Given the description of an element on the screen output the (x, y) to click on. 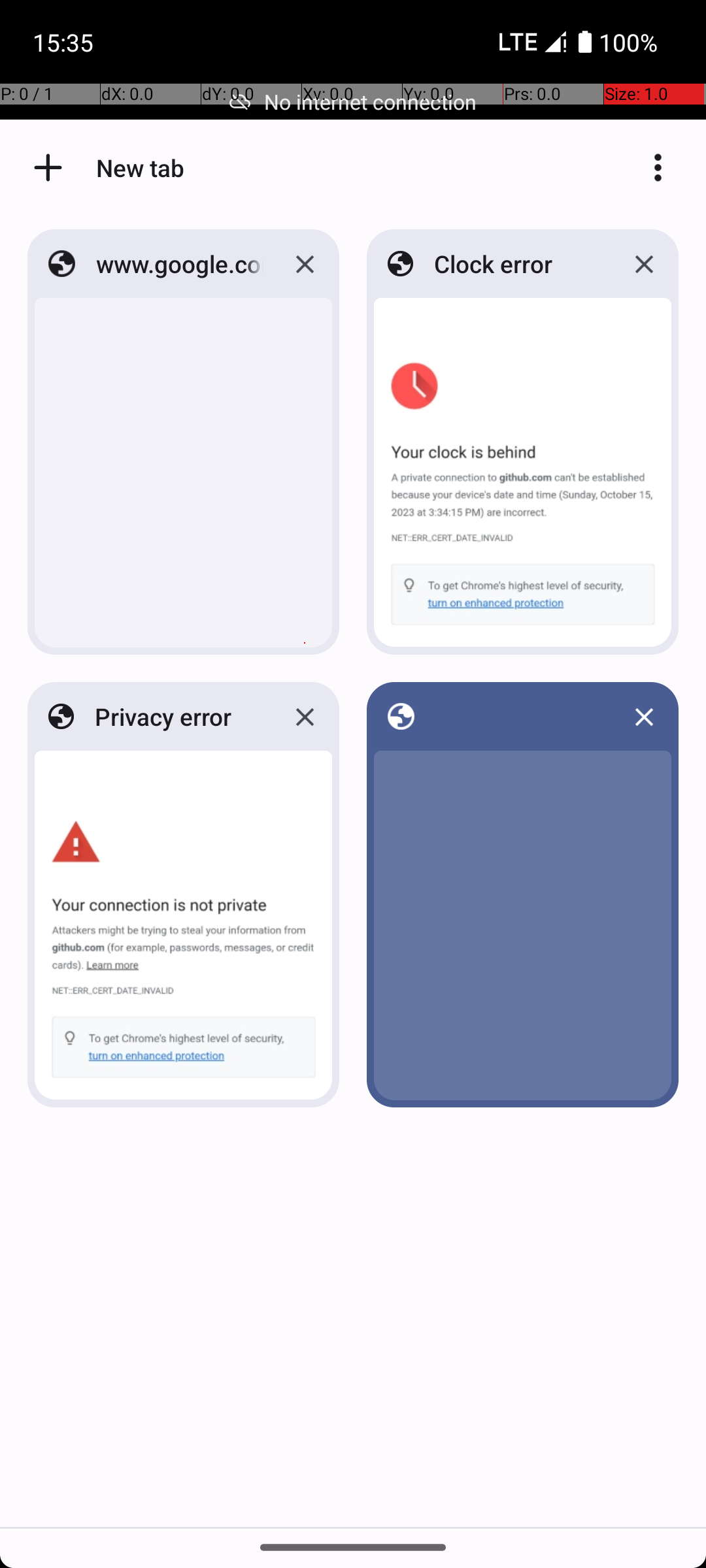
www.google.com Element type: android.widget.TextView (179, 263)
Close www.google.com tab Element type: android.widget.ImageView (304, 263)
Clock error Element type: android.widget.TextView (518, 263)
Close Clock error tab Element type: android.widget.ImageView (643, 263)
Close Privacy error tab Element type: android.widget.ImageView (304, 716)
, tab Element type: android.widget.TextView (518, 716)
Close  tab Element type: android.widget.ImageView (643, 716)
New tab Element type: android.widget.ImageView (48, 167)
